Given the description of an element on the screen output the (x, y) to click on. 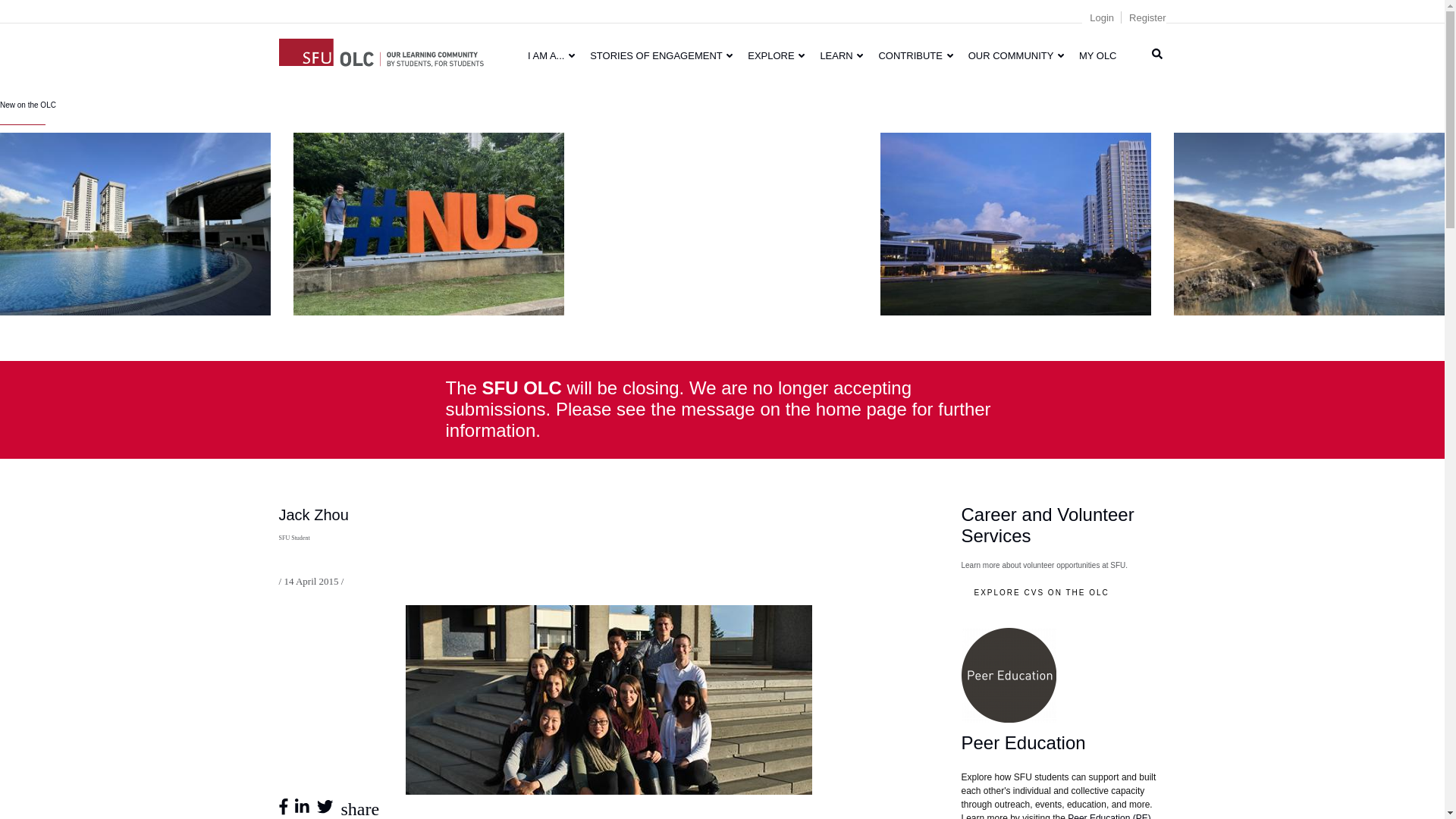
Godley Head Hike (1308, 223)
I AM A... (550, 55)
EXPLORE (775, 55)
Login (1101, 17)
Pool at Stephen Riady Center (135, 223)
OUR COMMUNITY (1015, 55)
LEARN (841, 55)
UTown Residence at NUS (1015, 223)
STORIES OF ENGAGEMENT (660, 55)
Home (381, 50)
CONTRIBUTE (914, 55)
NUS sign in Utown (429, 223)
Register (1147, 17)
